Given the description of an element on the screen output the (x, y) to click on. 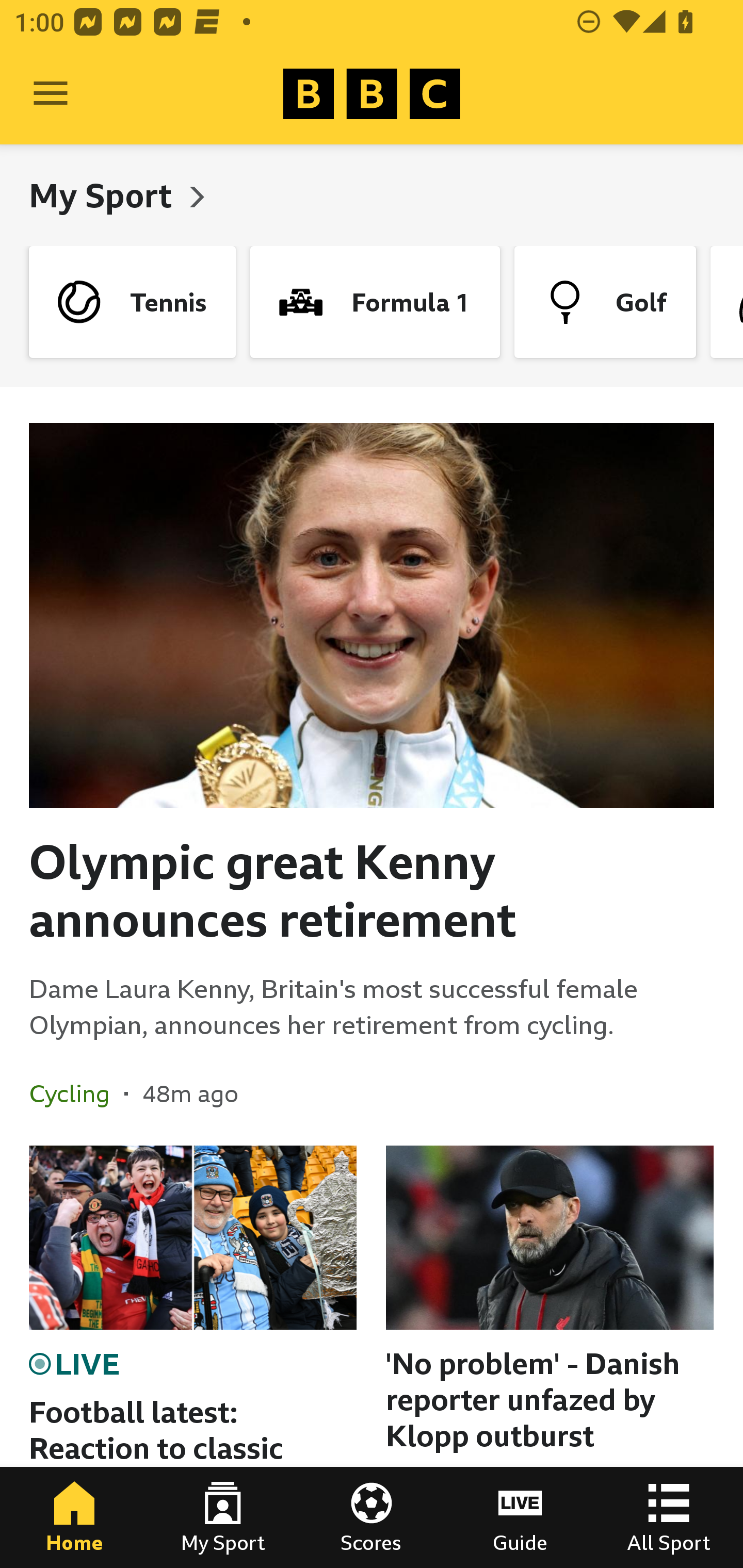
Open Menu (50, 93)
My Sport (104, 195)
Cycling In the section Cycling (76, 1093)
My Sport (222, 1517)
Scores (371, 1517)
Guide (519, 1517)
All Sport (668, 1517)
